Given the description of an element on the screen output the (x, y) to click on. 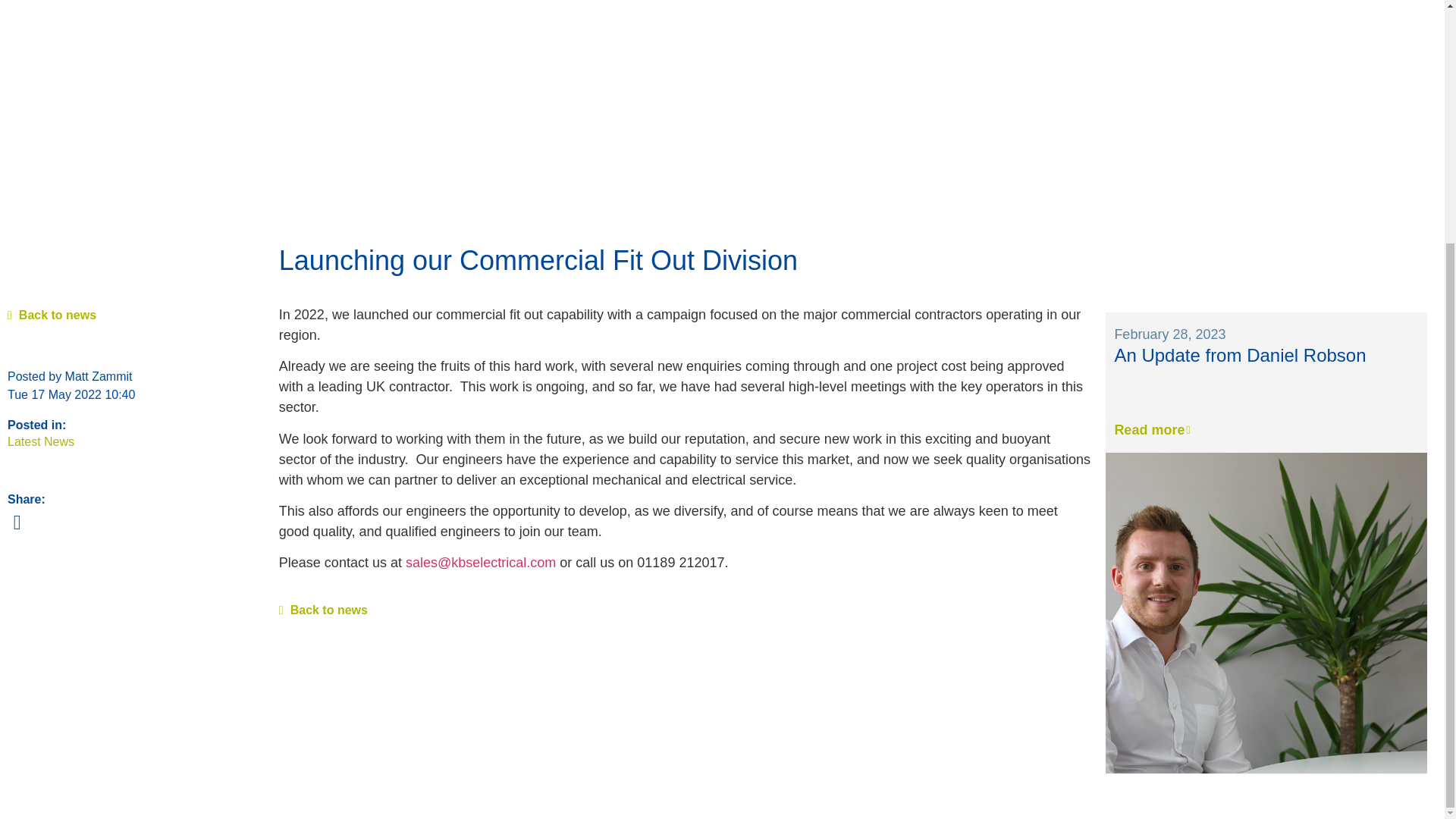
Back to news (51, 315)
Latest News (40, 440)
Posted by Matt Zammit (69, 376)
Tue 17 May 2022 10:40 (71, 394)
